Given the description of an element on the screen output the (x, y) to click on. 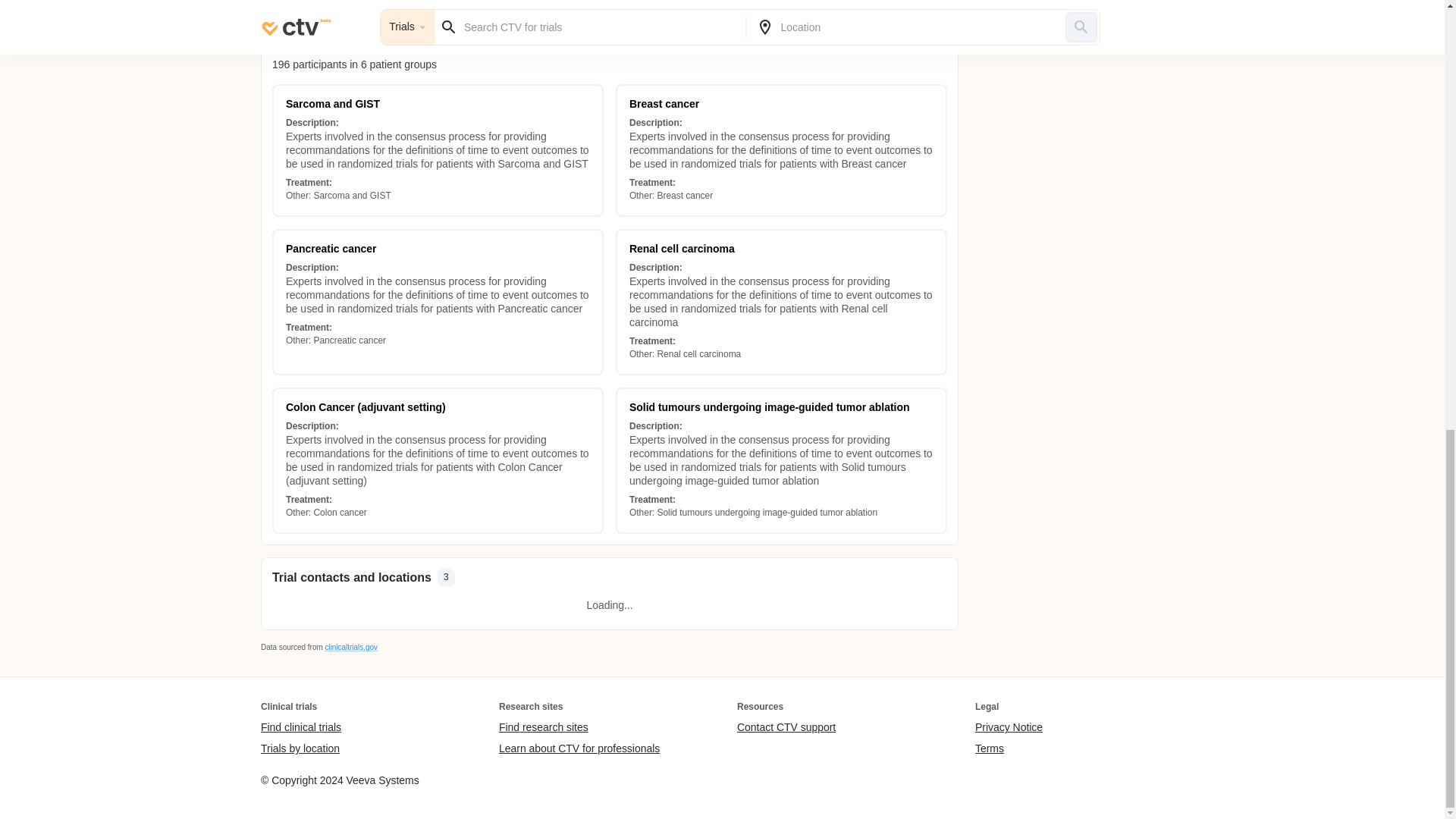
Find clinical trials (300, 727)
Terms (1008, 748)
Learn about CTV for professionals (579, 748)
Privacy Notice (1008, 727)
Trials by location (300, 748)
Contact CTV support (785, 727)
clinicaltrials.gov (350, 646)
Find research sites (579, 727)
